Given the description of an element on the screen output the (x, y) to click on. 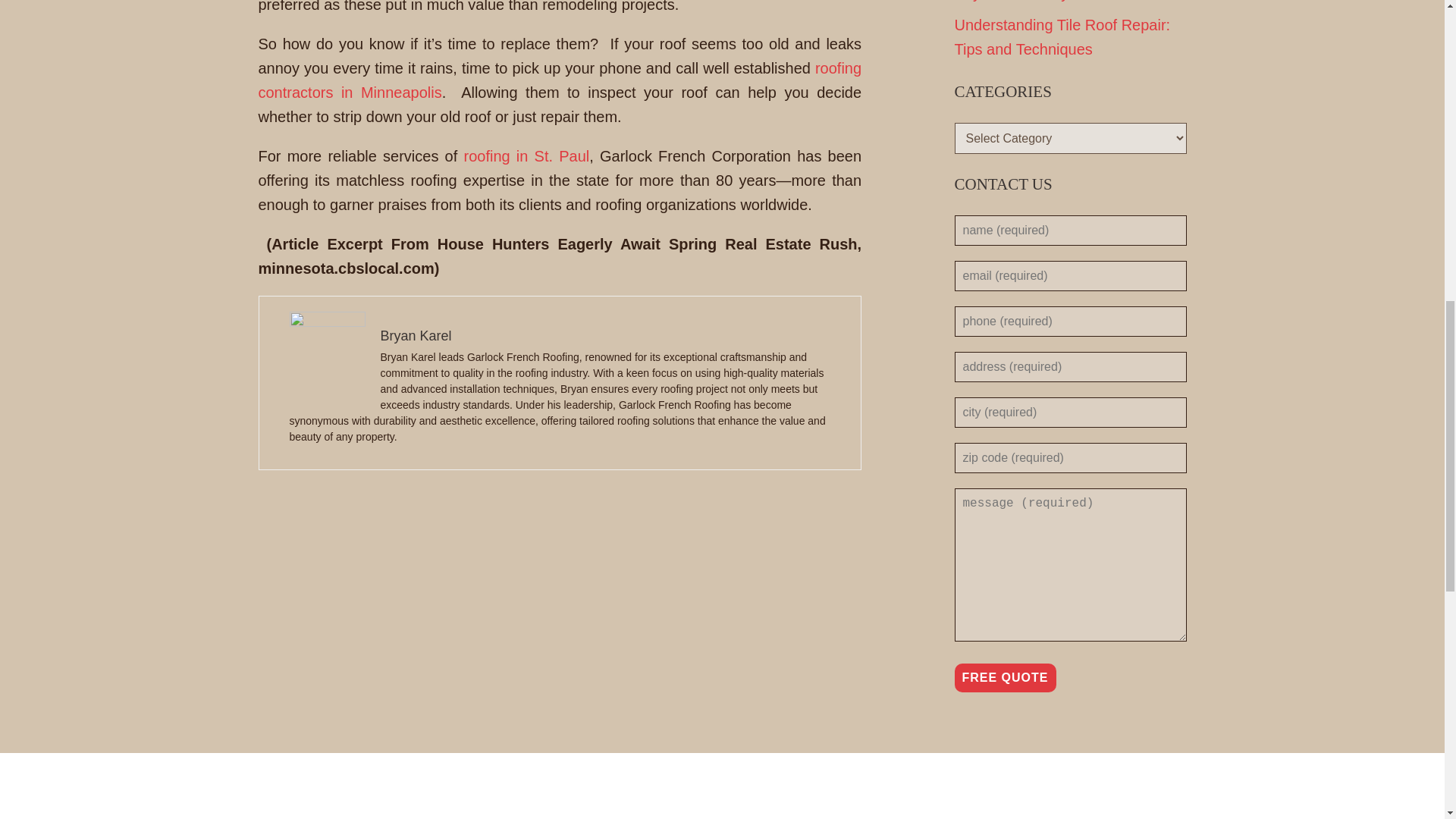
roofing in St. Paul (526, 156)
Free Quote (1004, 677)
roofing contractors Minneapolis (559, 79)
